Given the description of an element on the screen output the (x, y) to click on. 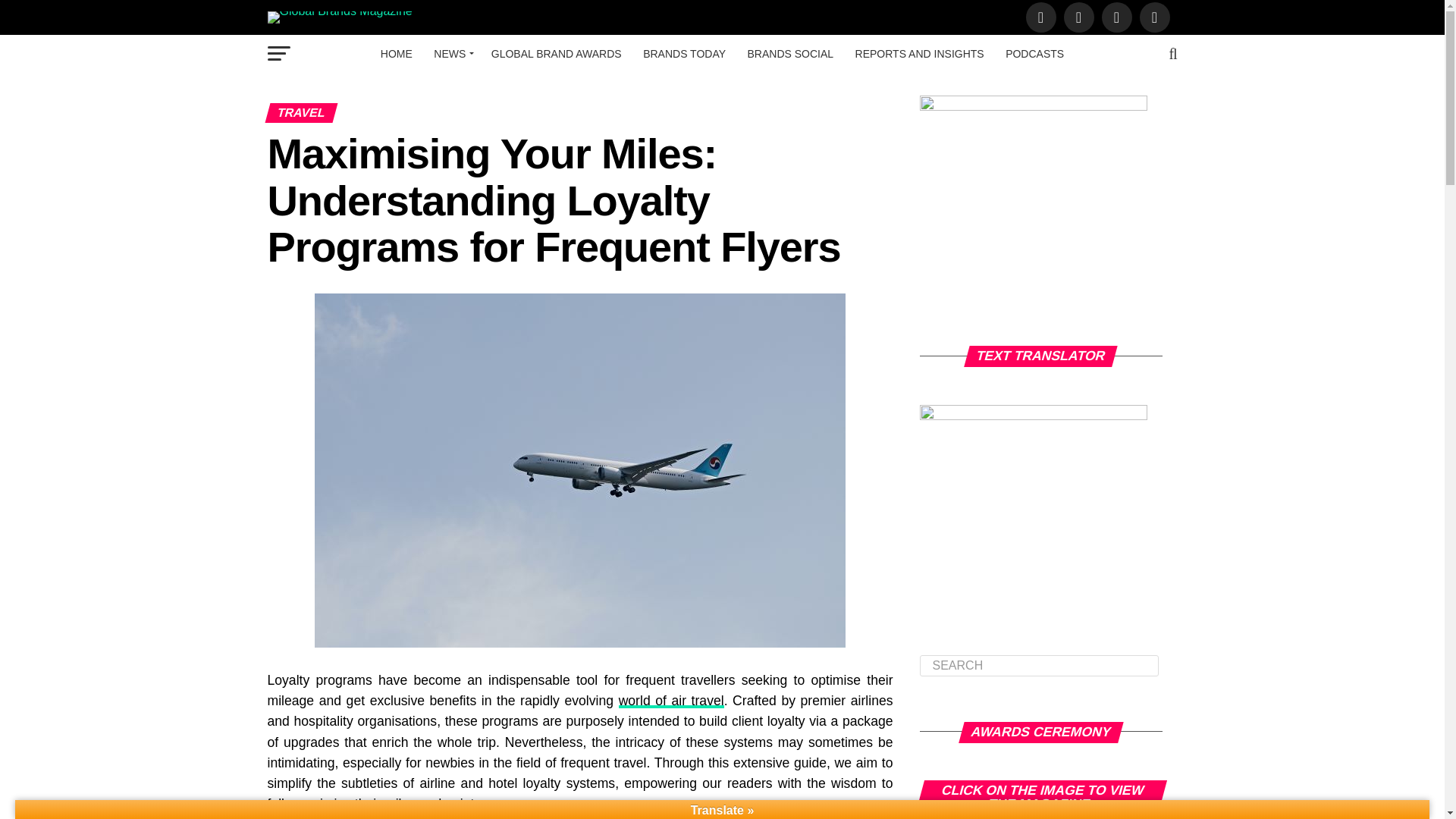
HOME (396, 53)
NEWS (452, 53)
Search (1038, 665)
